Given the description of an element on the screen output the (x, y) to click on. 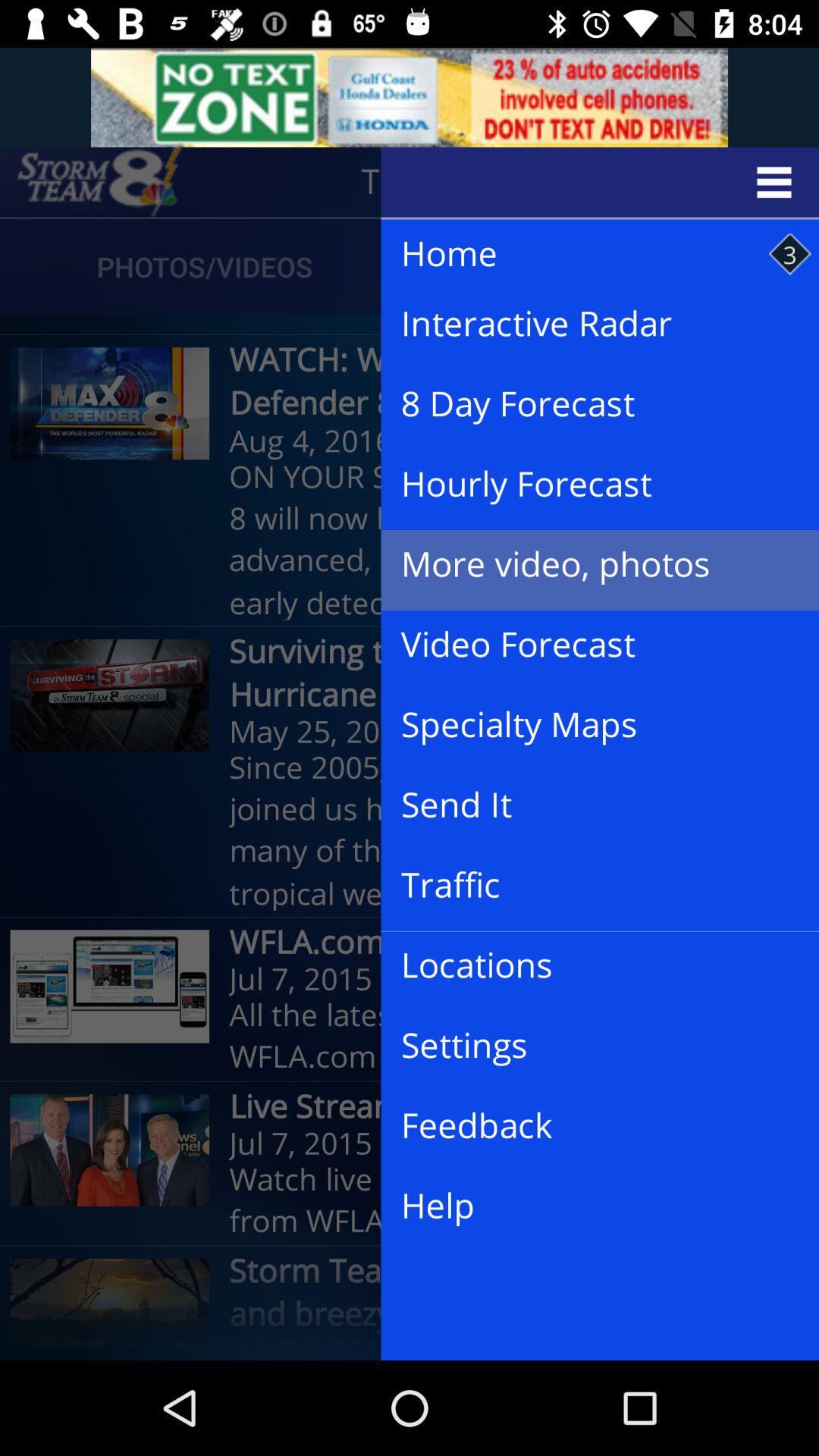
select icon above the all the latest item (587, 965)
